Given the description of an element on the screen output the (x, y) to click on. 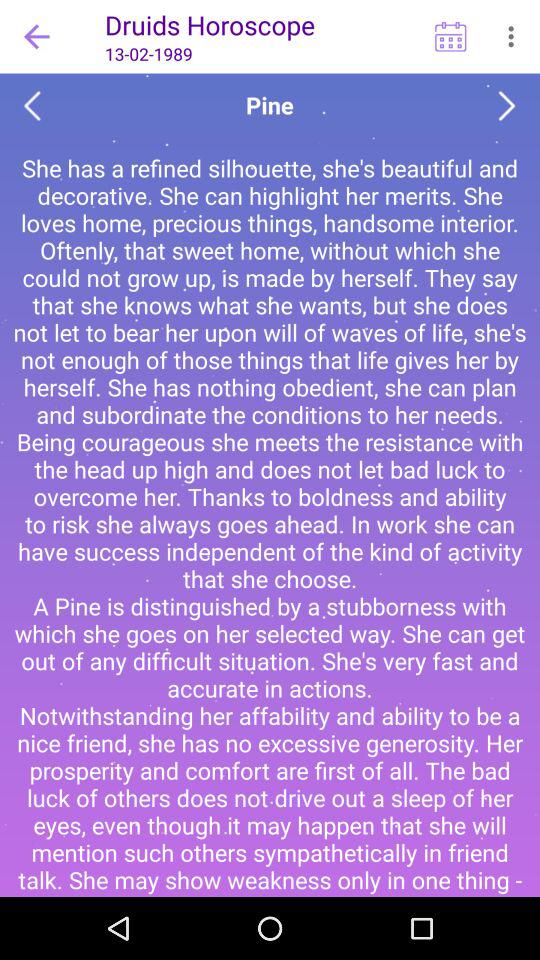
view the horoscope for specific days (450, 36)
